Given the description of an element on the screen output the (x, y) to click on. 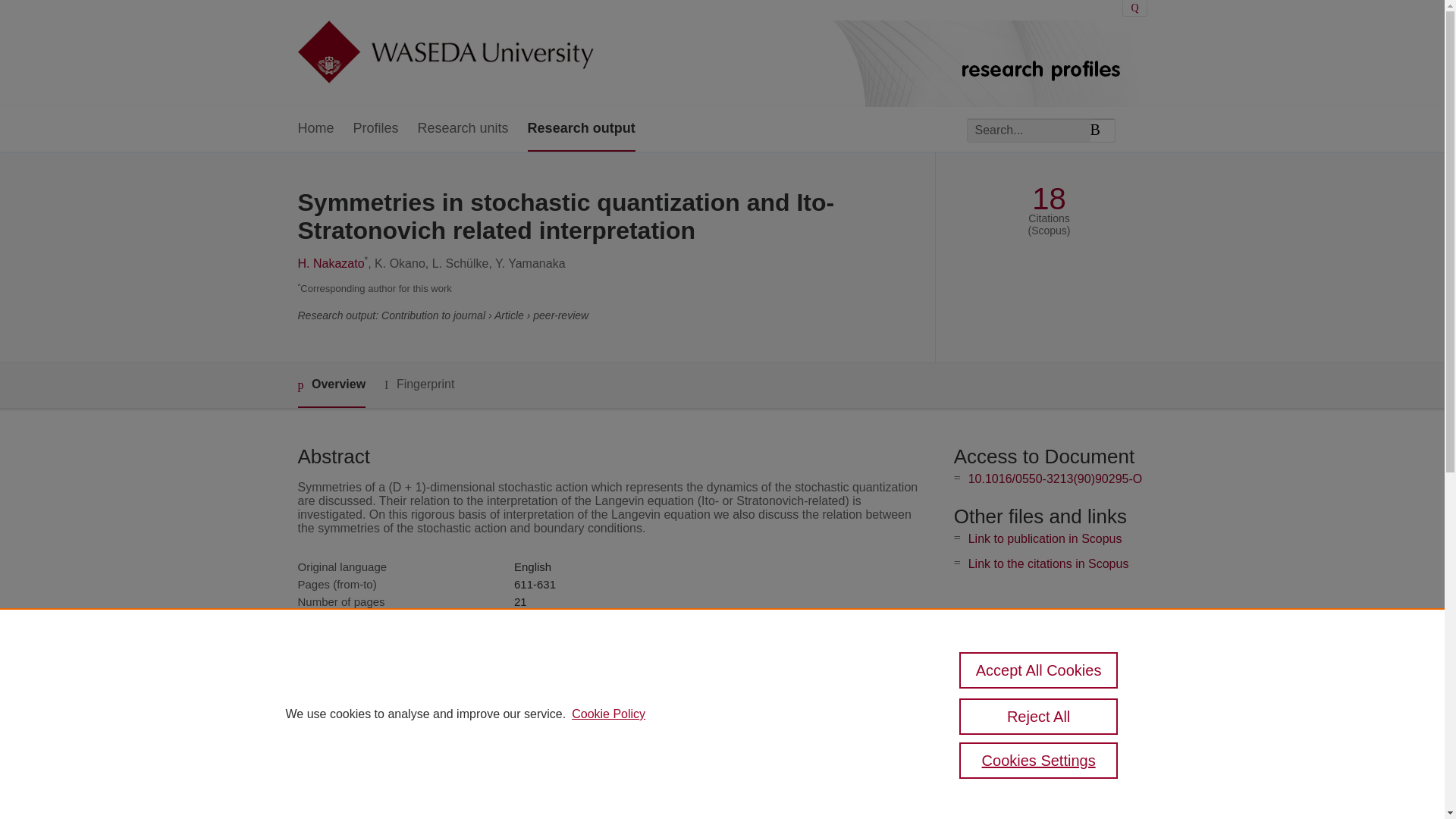
Nuclear Physics, Section B (581, 618)
Overview (331, 385)
Link to the citations in Scopus (1048, 563)
18 (1048, 198)
H. Nakazato (330, 263)
Link to publication in Scopus (1045, 538)
Waseda University Home (444, 53)
Research units (462, 129)
Research output (580, 129)
